Given the description of an element on the screen output the (x, y) to click on. 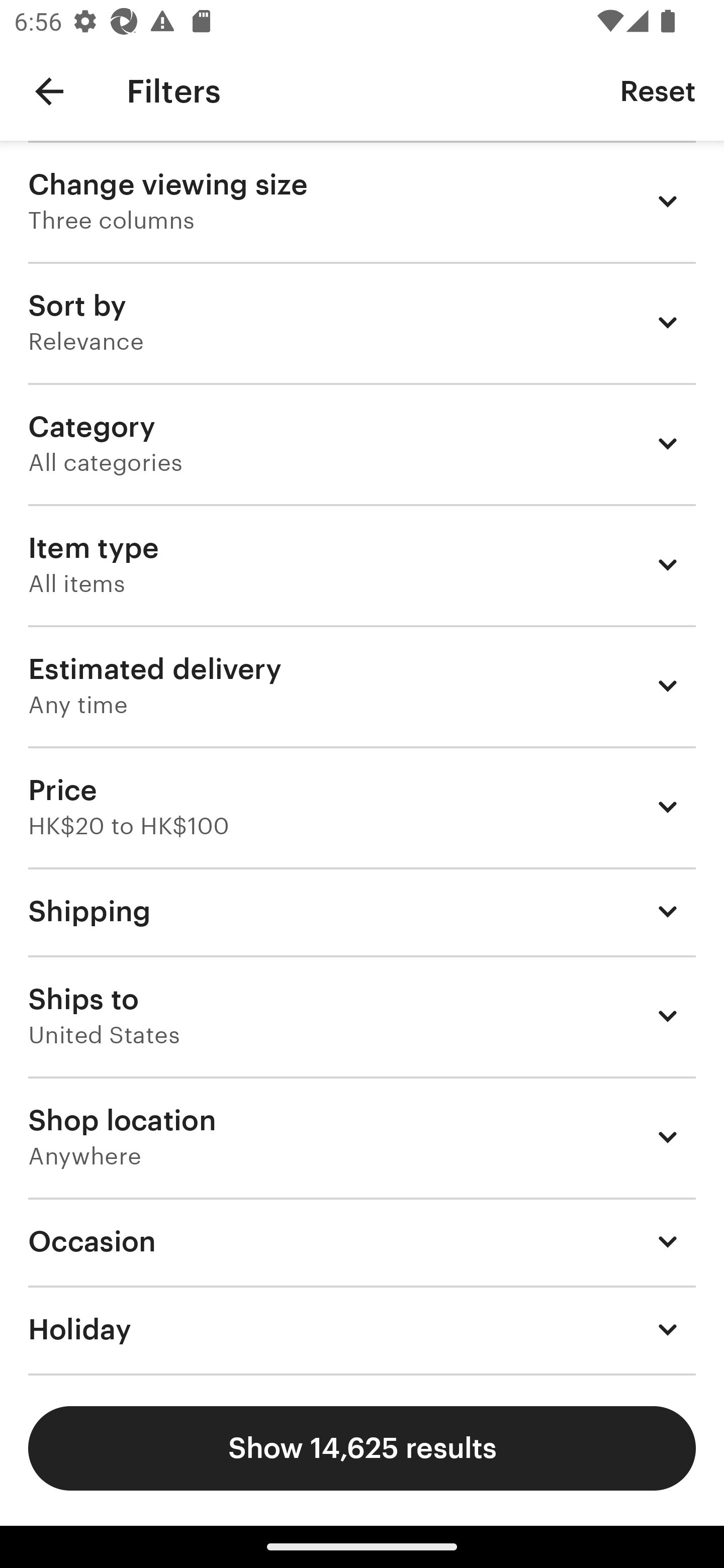
Navigate up (49, 91)
Reset (657, 90)
Change viewing size Three columns (362, 201)
Sort by Relevance (362, 321)
Category All categories (362, 442)
Item type All items (362, 564)
Estimated delivery Any time (362, 685)
Price HK$20 to HK$100 (362, 806)
Shipping (362, 910)
Ships to United States (362, 1015)
Shop location Anywhere (362, 1137)
Occasion (362, 1241)
Holiday (362, 1329)
Show 14,625 results Show results (361, 1448)
